Given the description of an element on the screen output the (x, y) to click on. 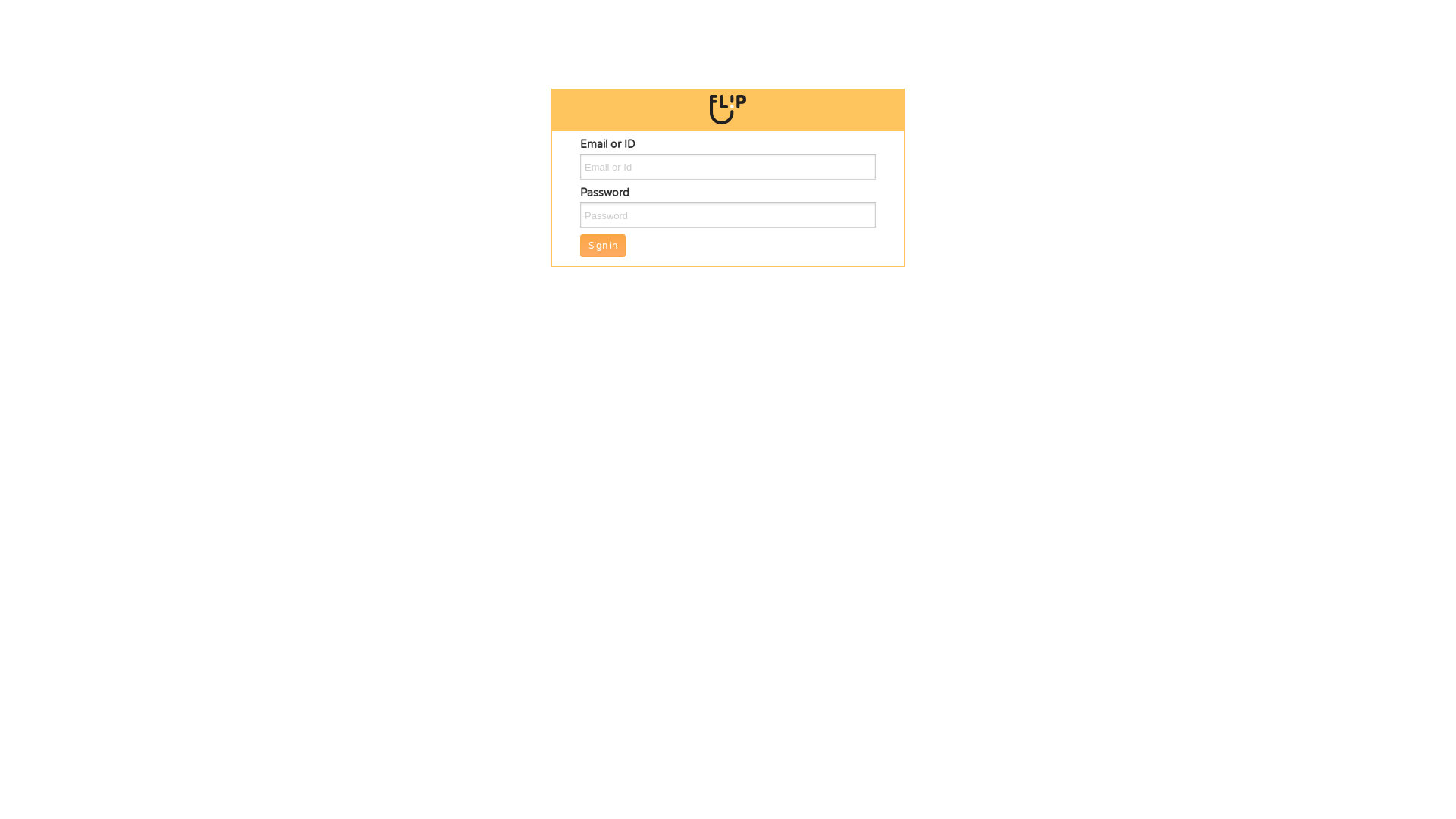
Sign in Element type: text (602, 245)
